Given the description of an element on the screen output the (x, y) to click on. 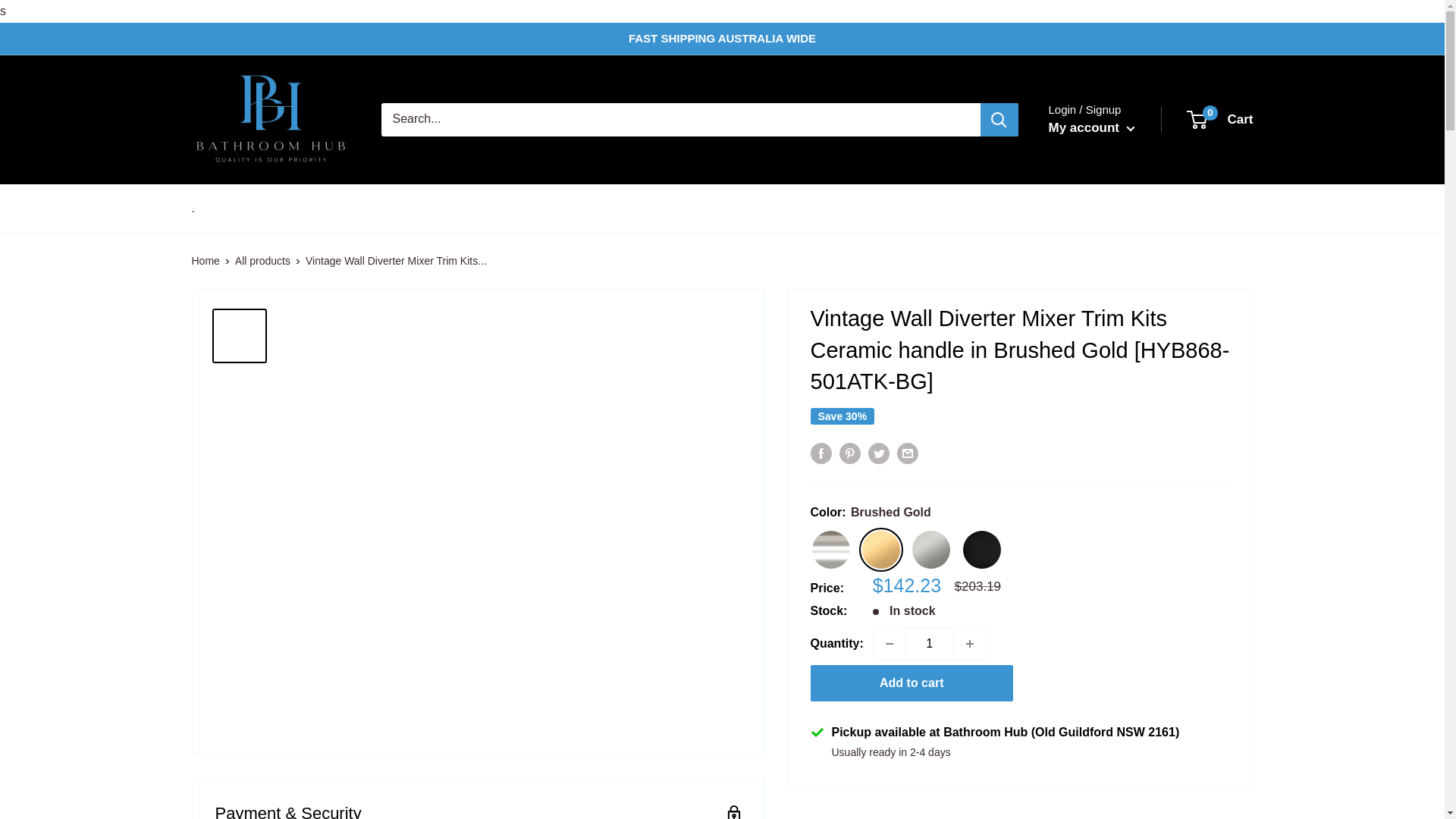
Increase quantity by 1 (969, 644)
Home (204, 260)
Brushed Nickel (932, 548)
Bathroom Hub (270, 119)
Chrome (829, 549)
Matt Black (981, 549)
Brushed Gold (880, 549)
Decrease quantity by 1 (889, 644)
FAST SHIPPING AUSTRALIA WIDE (721, 38)
Brushed Nickel (931, 549)
